Given the description of an element on the screen output the (x, y) to click on. 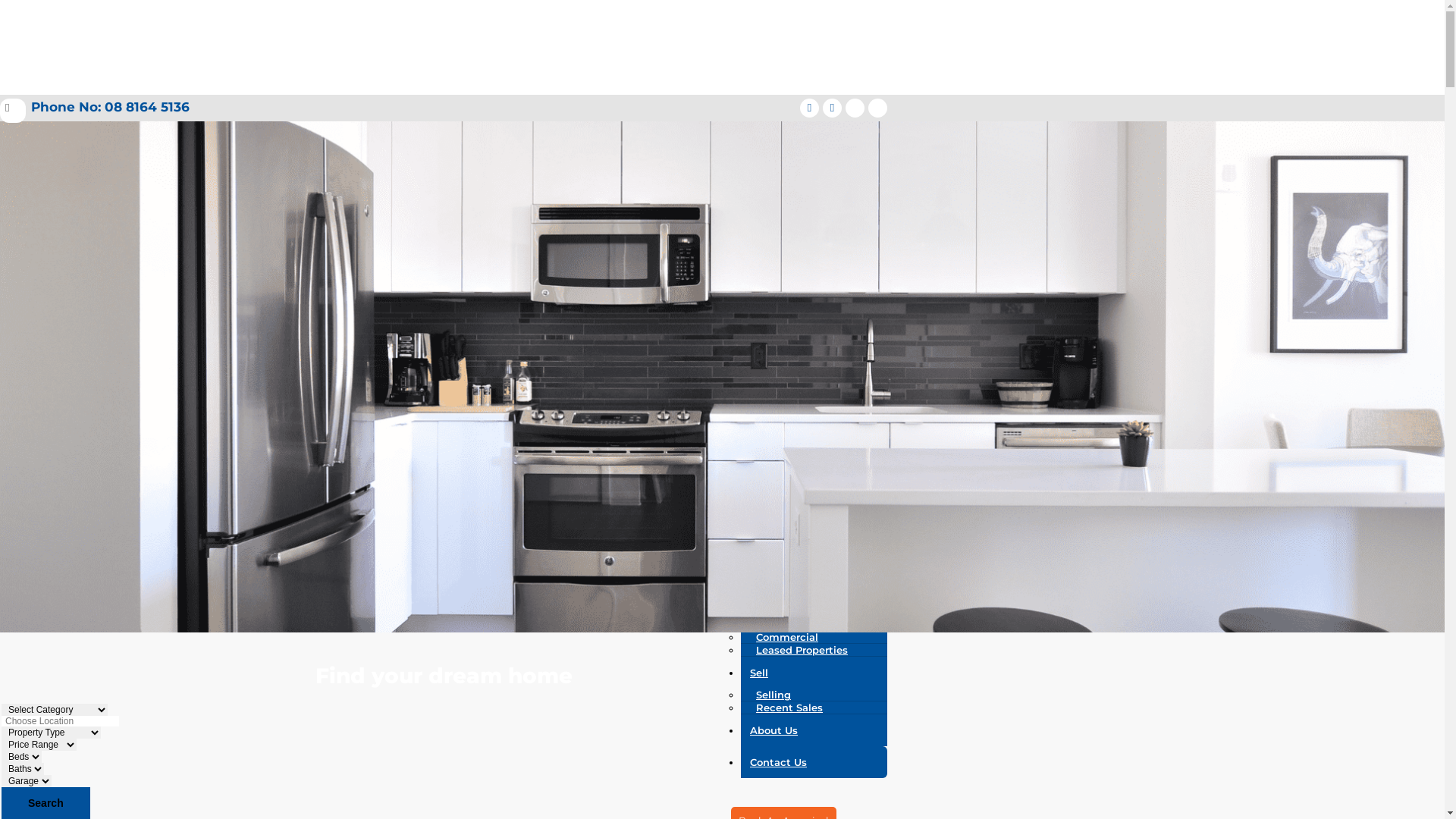
facesaldfjas;fkj;salfdj Element type: hover (809, 107)
Commercial Element type: text (786, 540)
Land Element type: text (768, 527)
Recent Sales Element type: text (788, 707)
Phone No: 08 8164 5136 Element type: text (94, 107)
Commercial Element type: text (786, 636)
Rural Element type: text (768, 553)
Residential Element type: text (784, 610)
Projects Element type: text (813, 422)
House & Land Element type: text (791, 444)
Residential Element type: text (784, 501)
Rent Element type: text (813, 576)
Contact Us Element type: text (813, 762)
Leased Properties Element type: text (801, 649)
Home Element type: text (813, 390)
Sell Element type: text (813, 672)
House & Land Element type: text (791, 514)
Unit/Apartment Element type: text (796, 456)
Buy Element type: text (813, 479)
Property Management Element type: text (813, 623)
About Us Element type: text (813, 730)
Selling Element type: text (773, 694)
Toggle navigation Element type: text (45, 129)
Rental Element type: text (772, 597)
